Given the description of an element on the screen output the (x, y) to click on. 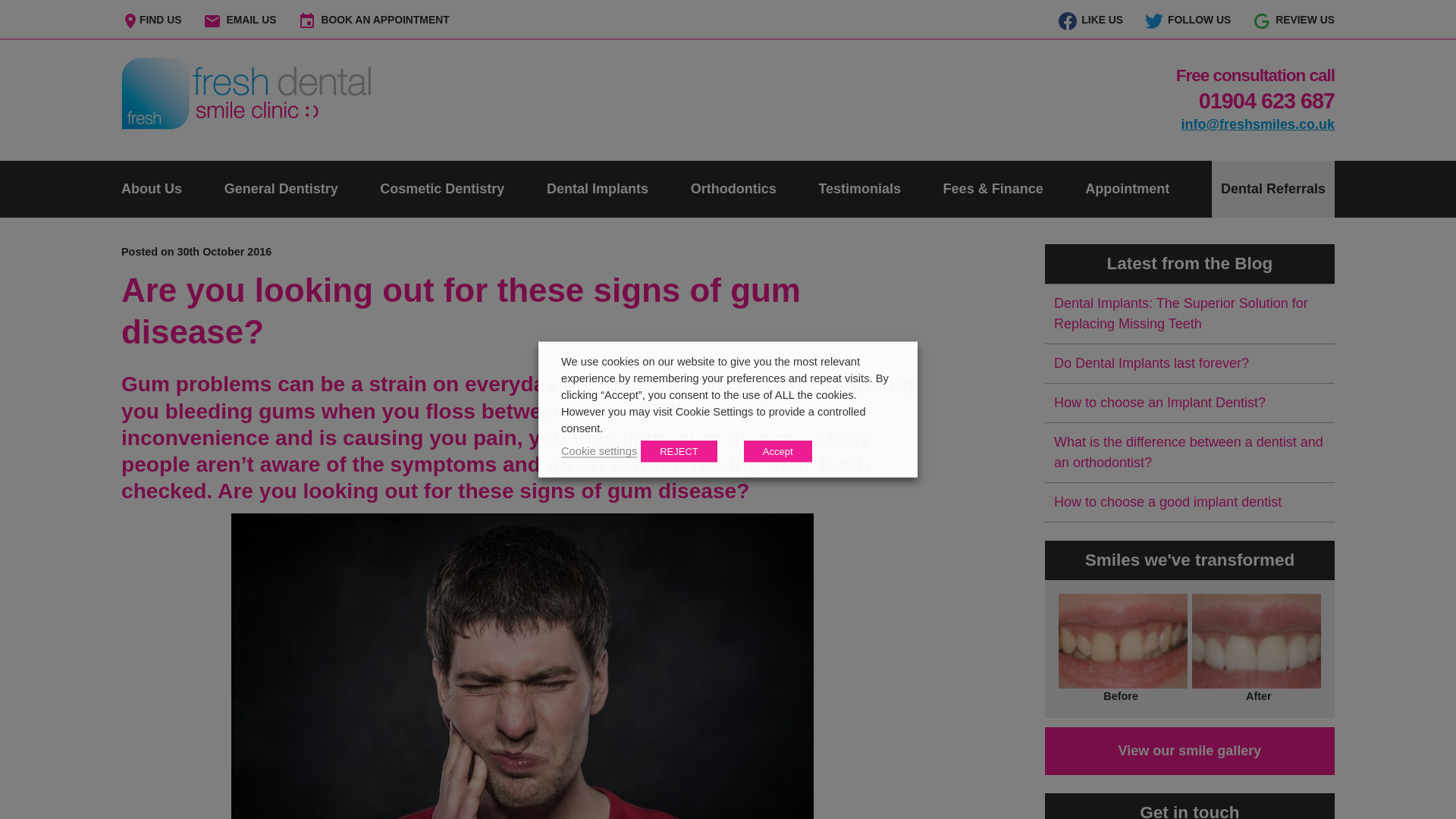
Cosmetic Dentistry (441, 189)
REVIEW US (1305, 19)
EMAIL US (250, 19)
FIND US (159, 19)
About Us (151, 189)
General Dentistry (280, 189)
Dental Implants (597, 189)
FOLLOW US (1198, 19)
BOOK AN APPOINTMENT (384, 19)
LIKE US (1101, 19)
